Given the description of an element on the screen output the (x, y) to click on. 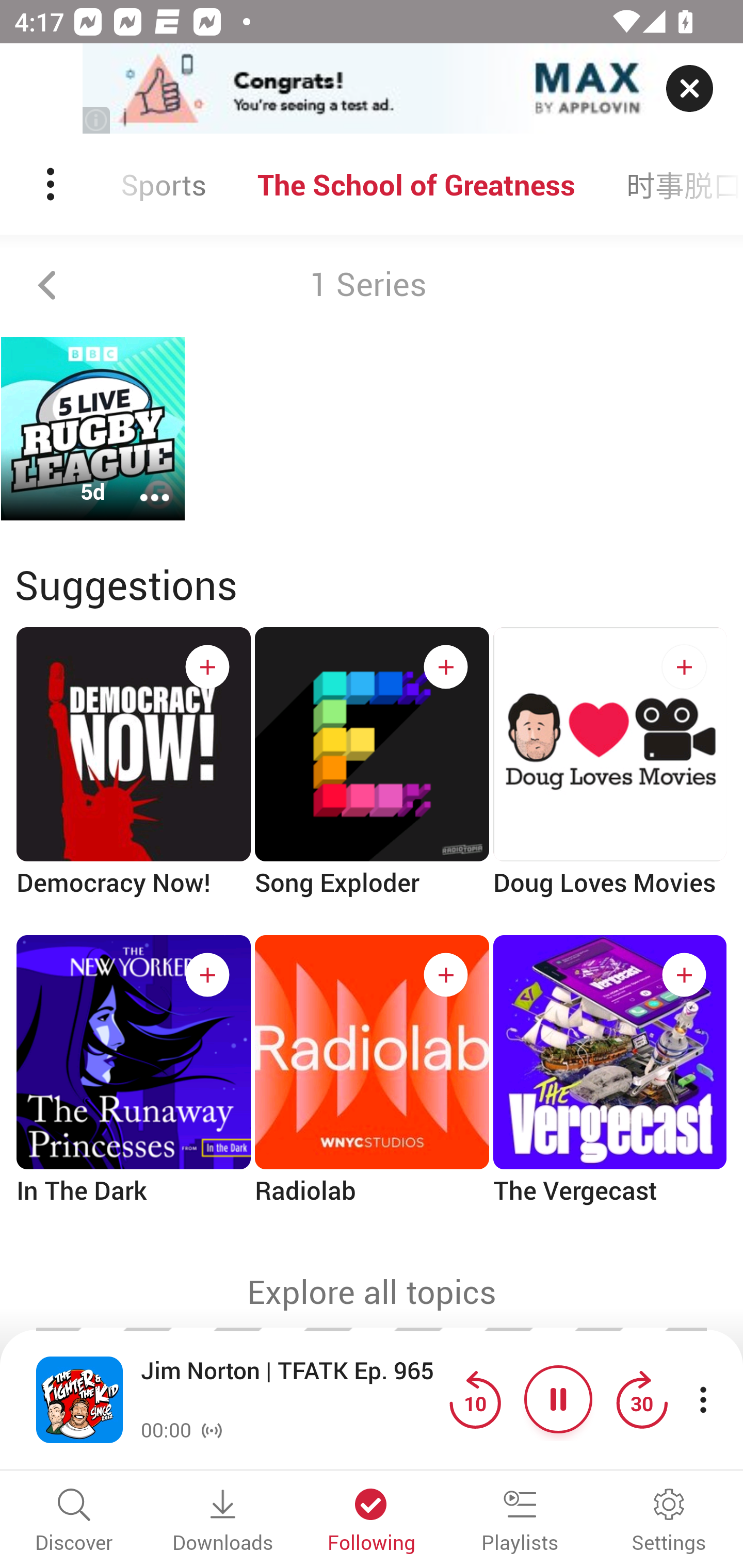
app-monetization (371, 88)
(i) (96, 119)
Menu (52, 184)
Sports (163, 184)
The School of Greatness (416, 184)
时事脱口秀 (672, 184)
1 Series (371, 285)
5 Live Rugby League 5d More options More options (92, 428)
More options (141, 484)
Democracy Now! Democracy Now! Subscribe button (133, 779)
Song Exploder Song Exploder Subscribe button (371, 779)
Subscribe button (207, 666)
Subscribe button (446, 666)
Subscribe button (684, 666)
In The Dark In The Dark Subscribe button (133, 1086)
Radiolab Radiolab Subscribe button (371, 1086)
The Vergecast The Vergecast Subscribe button (609, 1086)
Subscribe button (207, 974)
Subscribe button (446, 974)
Subscribe button (684, 974)
Explore all topics (371, 1291)
Open fullscreen player (79, 1399)
More player controls (703, 1399)
Jim Norton | TFATK Ep. 965 (290, 1385)
Pause button (558, 1398)
Jump back (475, 1399)
Jump forward (641, 1399)
Discover (74, 1521)
Downloads (222, 1521)
Following (371, 1521)
Playlists (519, 1521)
Settings (668, 1521)
